Given the description of an element on the screen output the (x, y) to click on. 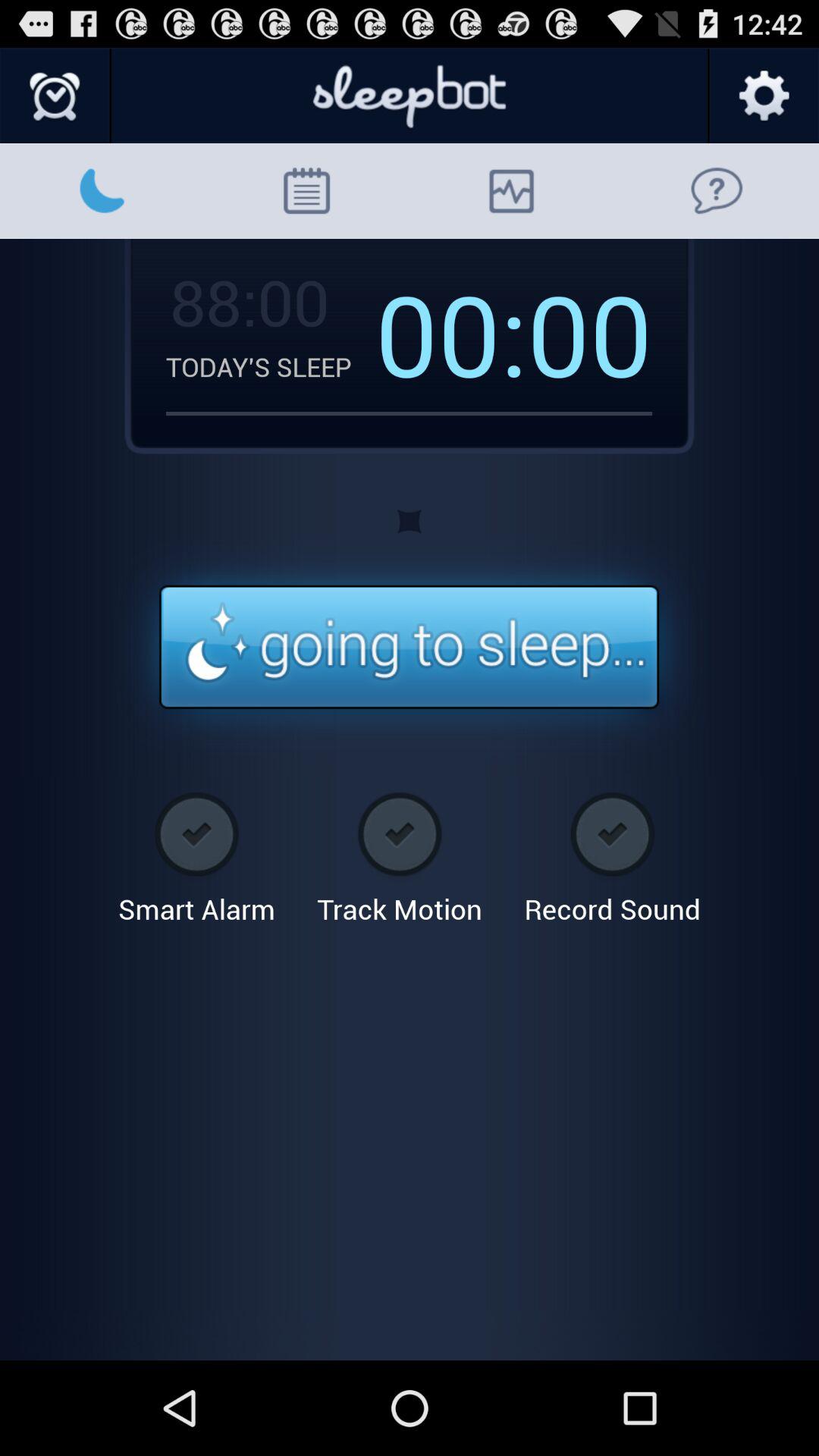
turn off app to the left of 00 app (451, 332)
